Given the description of an element on the screen output the (x, y) to click on. 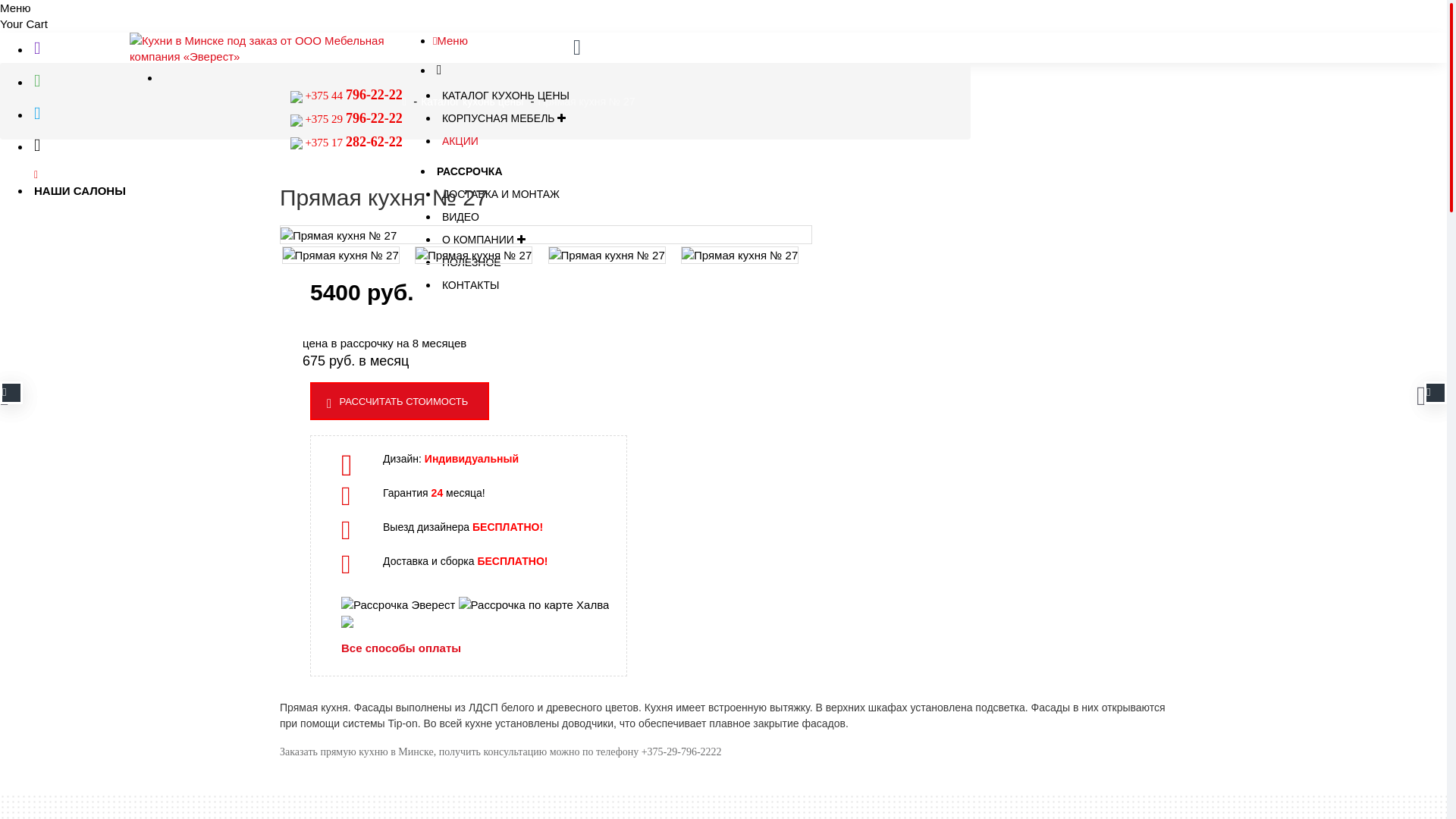
+375 17 282-62-22 Element type: text (352, 142)
 +375 44 796-22-22 Element type: text (352, 95)
+375 29 796-22-22 Element type: text (352, 118)
